Given the description of an element on the screen output the (x, y) to click on. 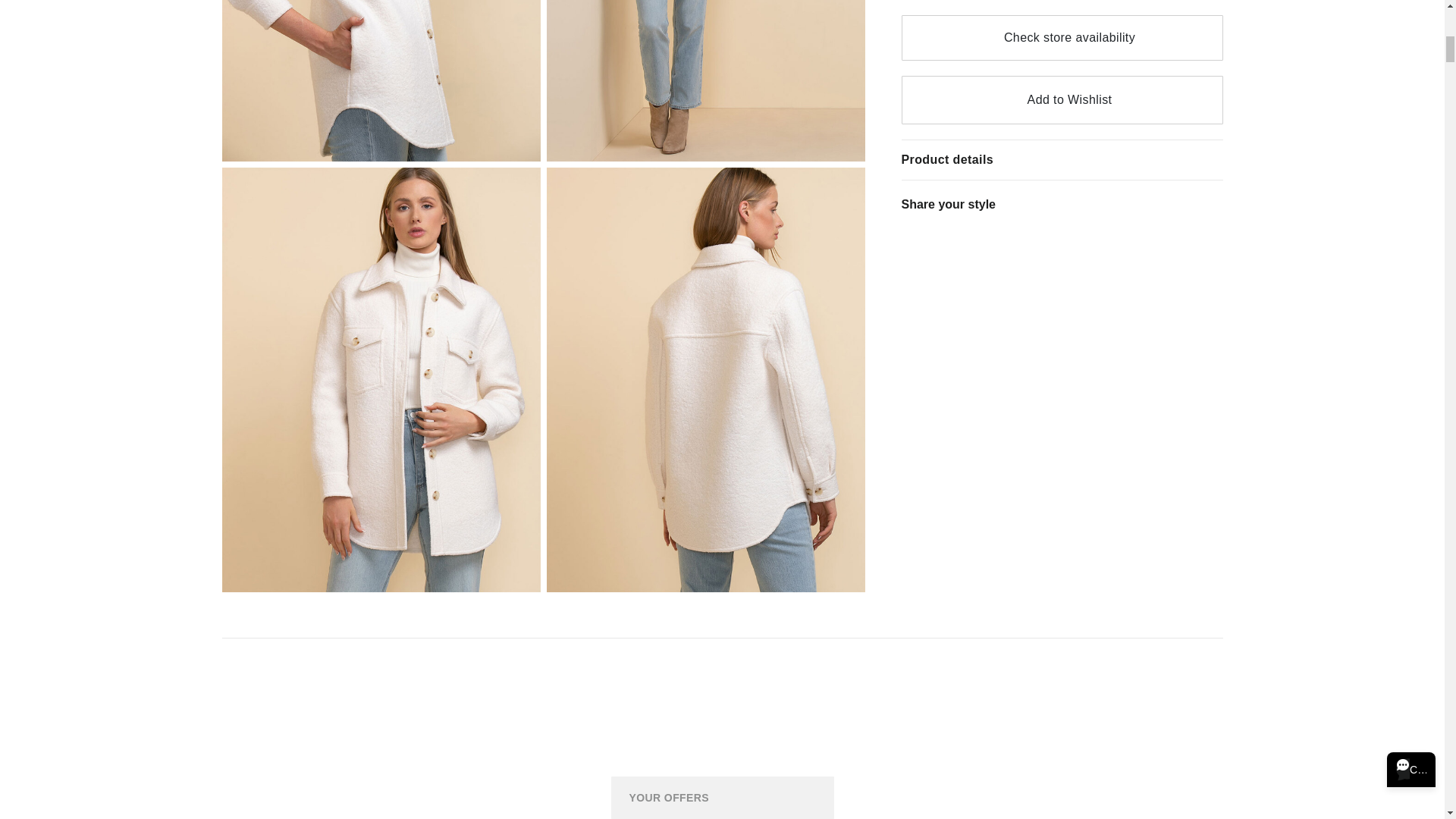
Zia Wool Blend Shirt Jacket (705, 80)
Zia Wool Blend Shirt Jacket (380, 80)
